Given the description of an element on the screen output the (x, y) to click on. 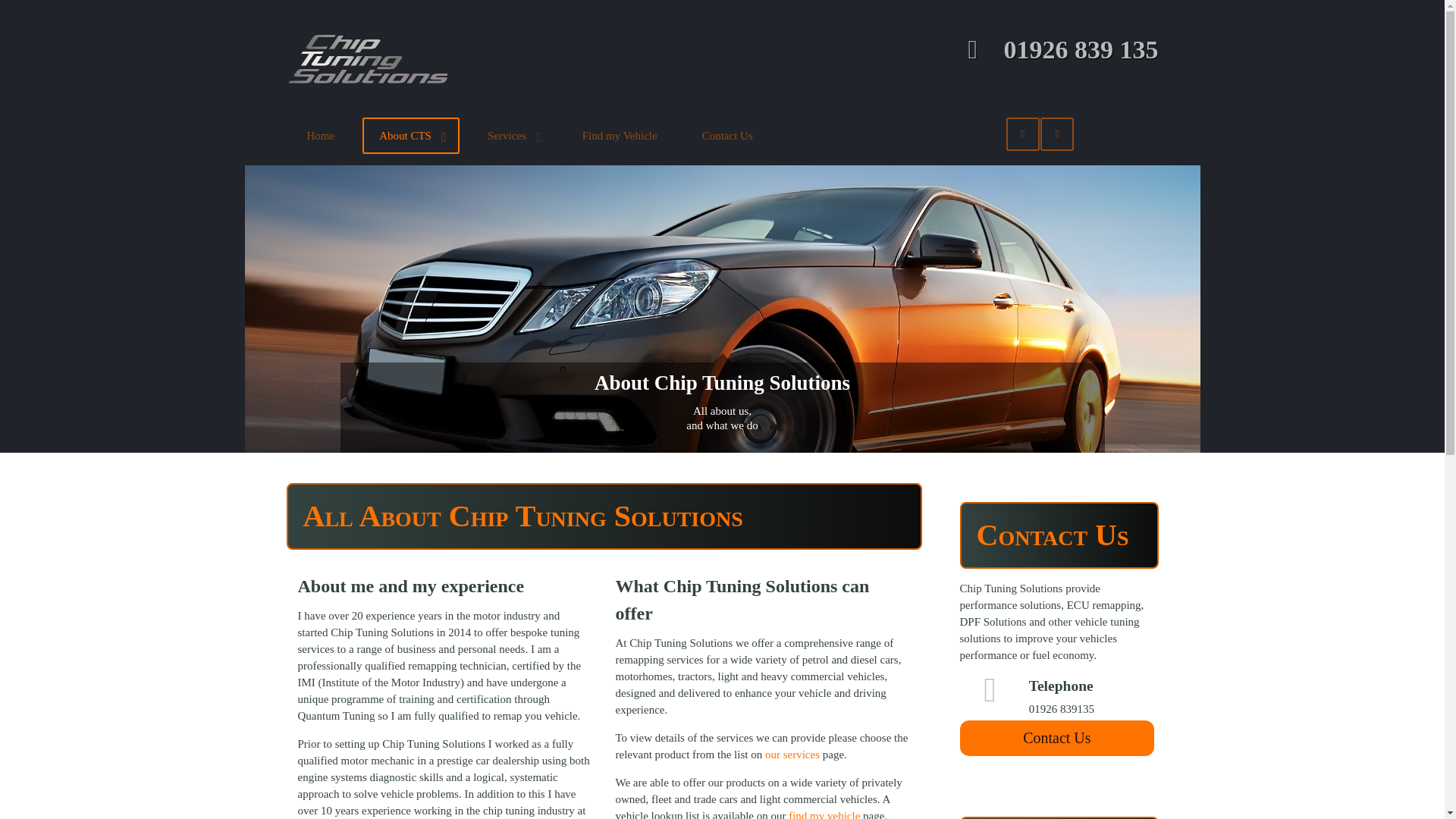
Get in touch with CTS (1056, 737)
Find my Vehicle (619, 135)
find my vehicle (823, 814)
our services (792, 754)
Contact Us (1056, 737)
find my vehicle (823, 814)
Chip Tuning Solutions (368, 57)
Home (320, 135)
Contact Us (727, 135)
Services (512, 135)
see our services page (792, 754)
About CTS (411, 135)
